Given the description of an element on the screen output the (x, y) to click on. 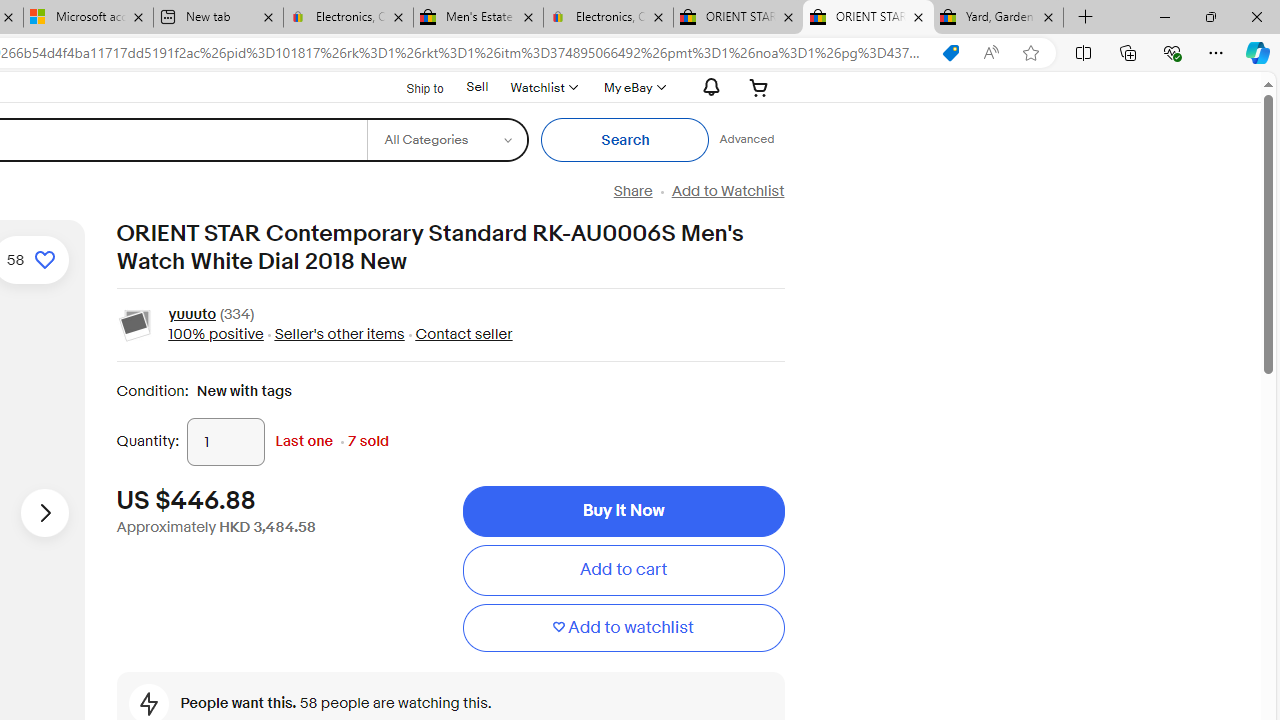
Add to watchlist (623, 627)
Add to cart (623, 570)
Add to Watchlist (727, 191)
Advanced Search (746, 139)
Add to cart (623, 570)
Share (632, 191)
  Contact seller (458, 334)
Watchlist (543, 87)
